Given the description of an element on the screen output the (x, y) to click on. 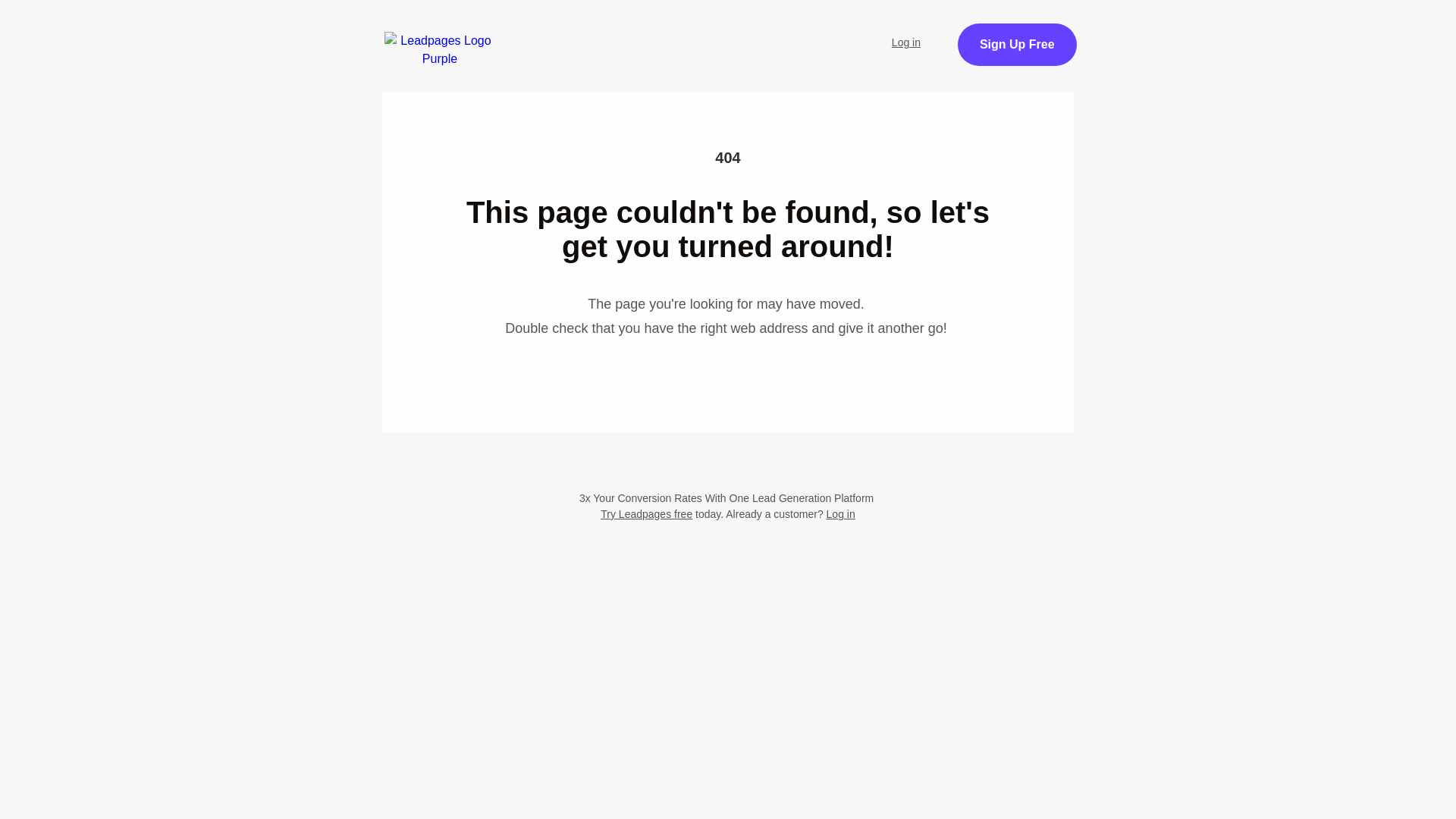
Start Spiritual Gifts Test (627, 33)
Our Verse of the Day (791, 33)
Get Free Book From The Ministry (727, 150)
Get Free Prophecy (1070, 53)
Give To The Ministry (529, 74)
HOME (501, 33)
